Given the description of an element on the screen output the (x, y) to click on. 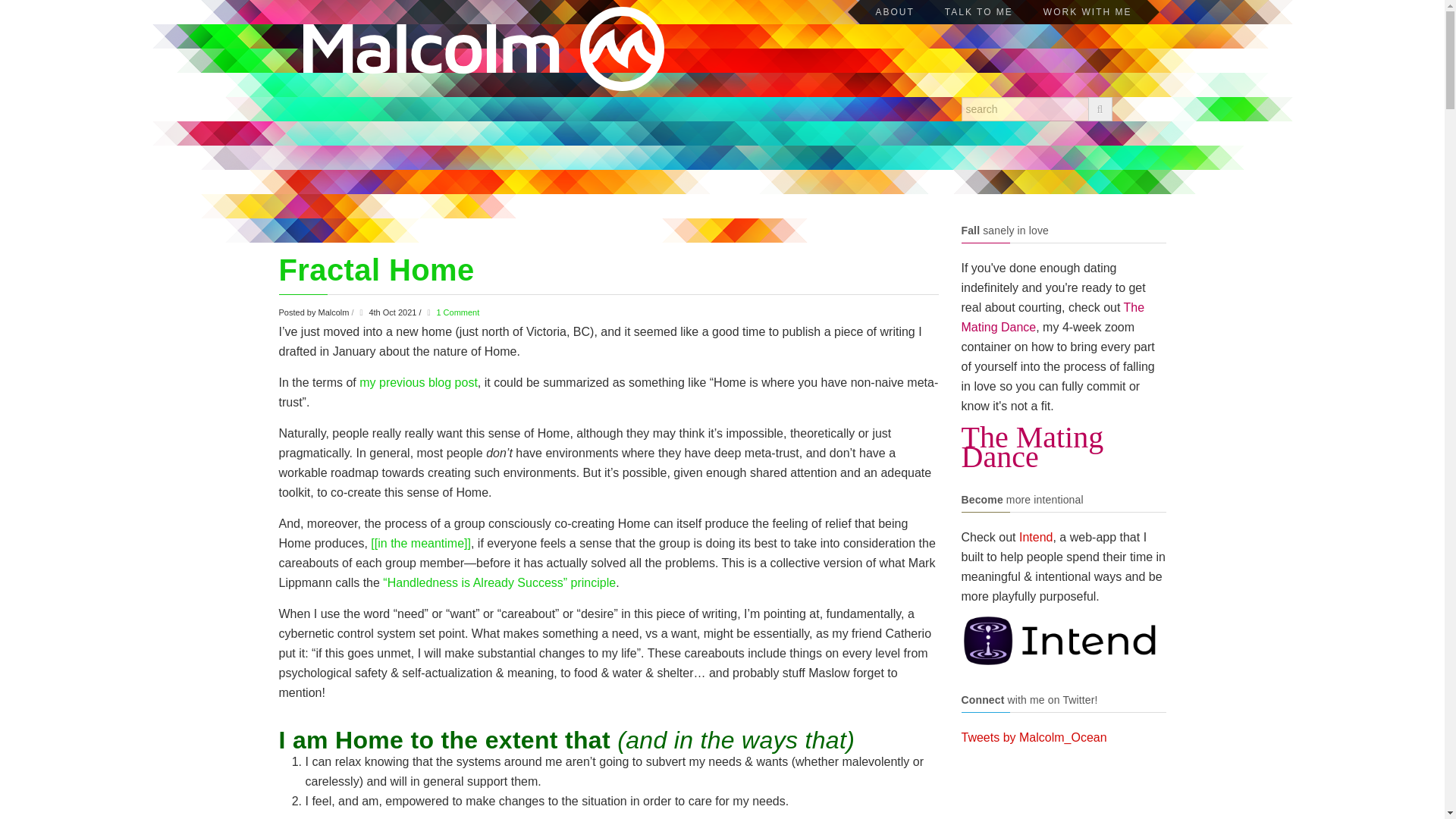
my previous blog post (418, 382)
Fractal Home (376, 269)
1 Comment (457, 311)
WORK WITH ME (1087, 12)
TALK TO ME (978, 12)
1 Comment (457, 311)
ABOUT (894, 12)
